Given the description of an element on the screen output the (x, y) to click on. 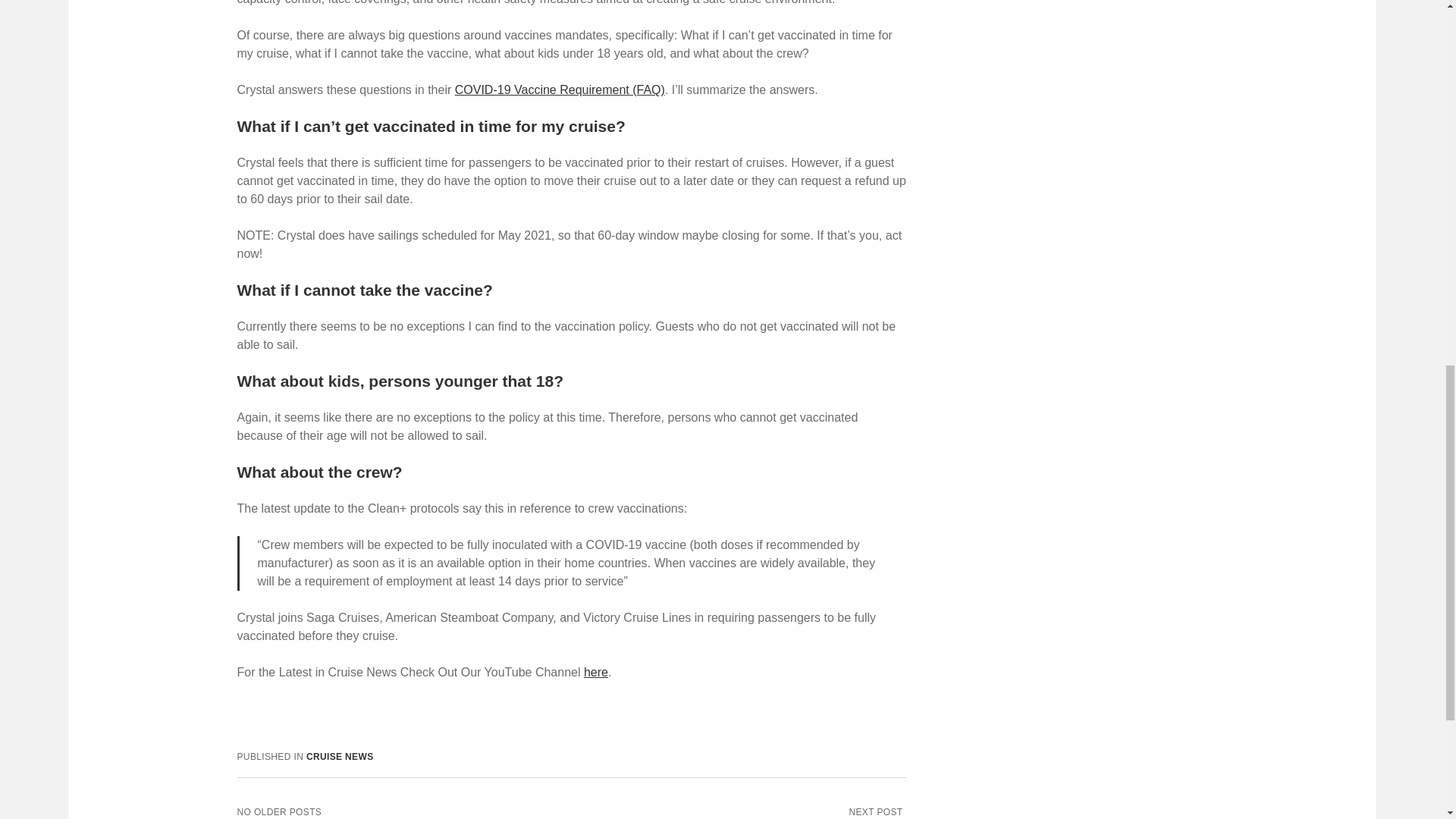
CRUISE NEWS (339, 756)
here (595, 671)
View all posts in Cruise News (339, 756)
